Given the description of an element on the screen output the (x, y) to click on. 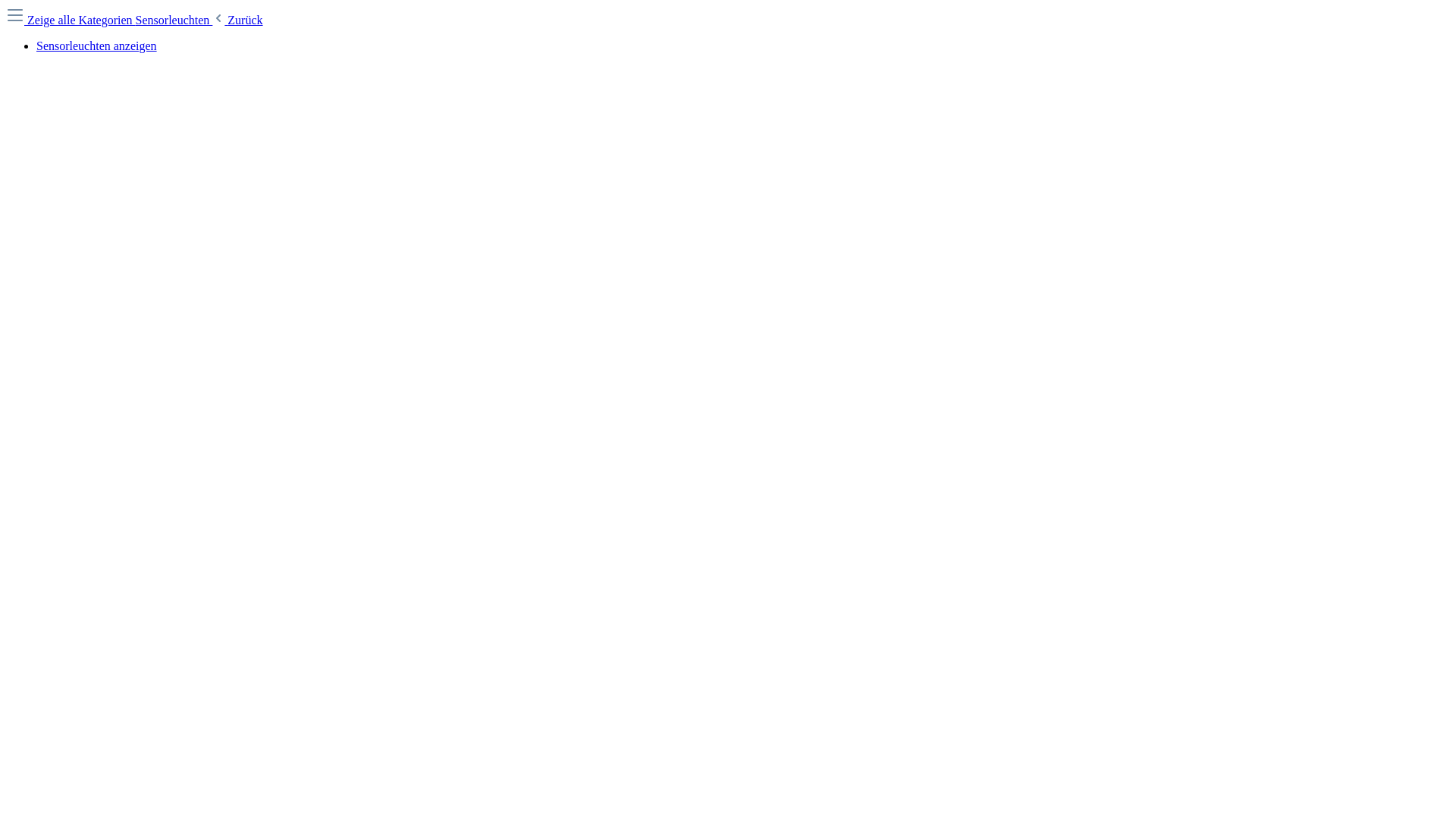
Sensorleuchten anzeigen Element type: text (96, 45)
Zeige alle Kategorien Element type: text (70, 19)
Sensorleuchten Element type: text (174, 19)
